Given the description of an element on the screen output the (x, y) to click on. 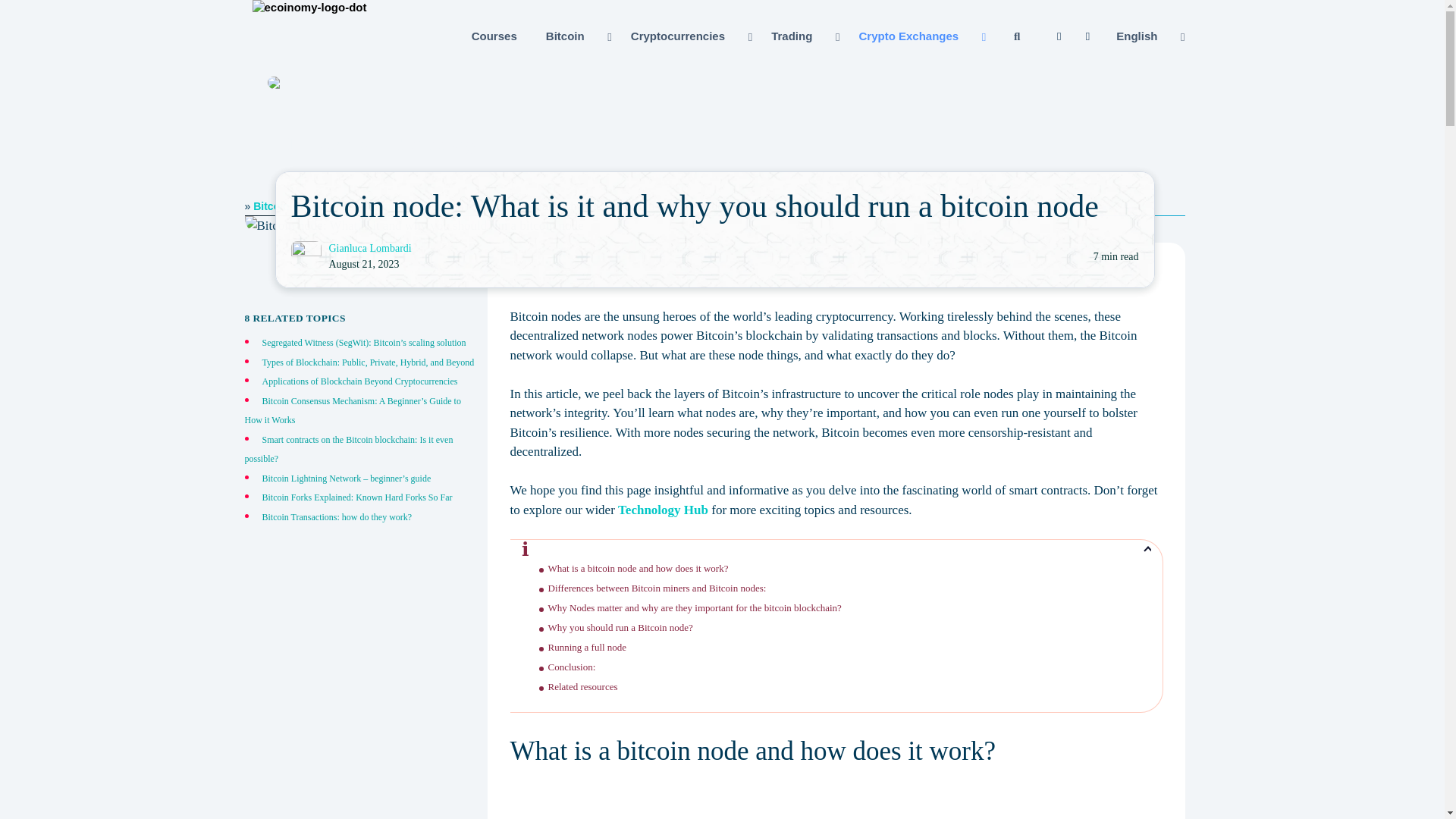
Bitcoin (577, 36)
Crypto Exchanges (919, 36)
Cryptocurrencies (690, 36)
Trading (803, 36)
Courses (494, 36)
